Given the description of an element on the screen output the (x, y) to click on. 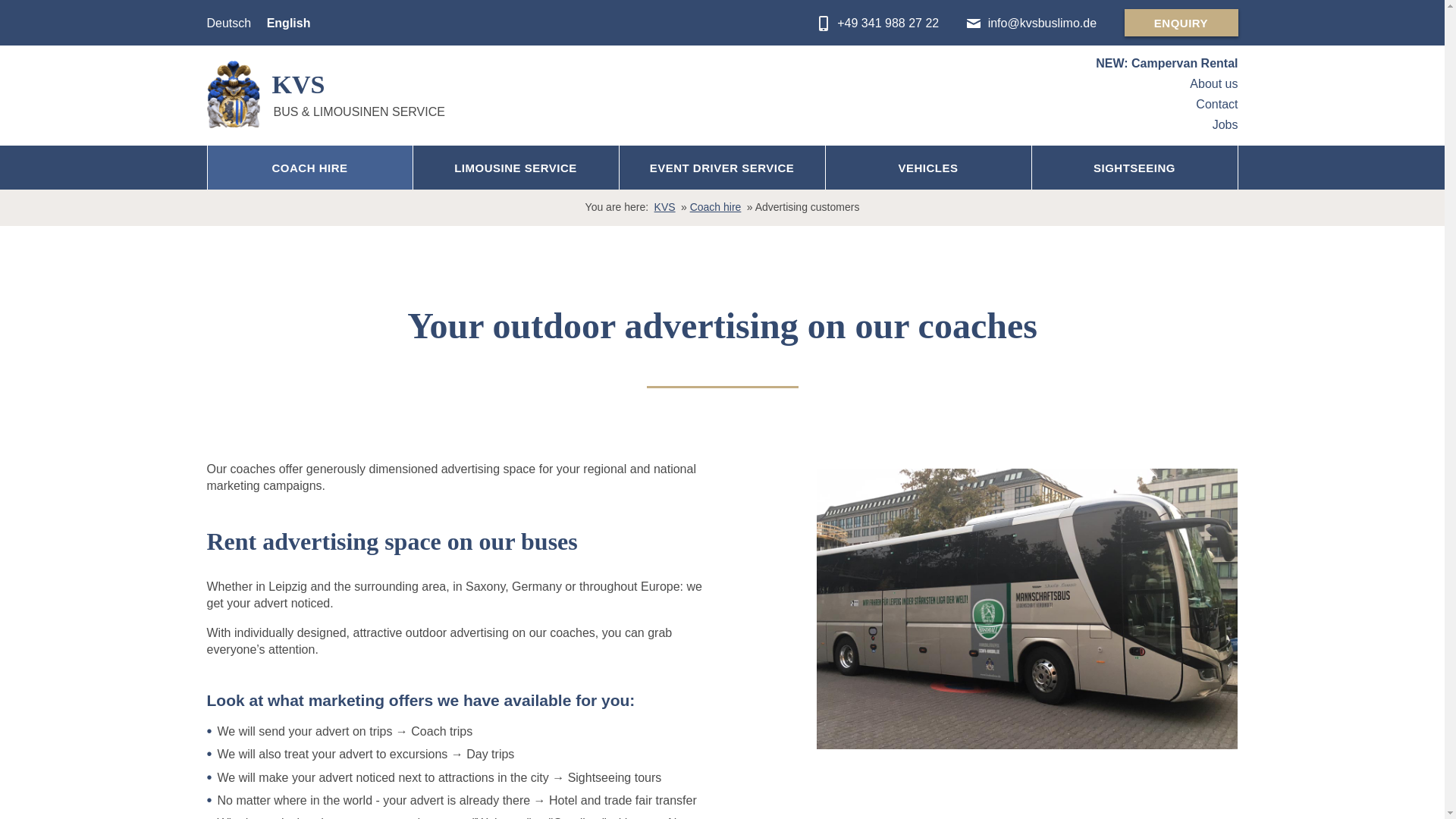
Jobs (1225, 124)
NEW: Campervan Rental (1166, 63)
COACH HIRE (310, 167)
Sightseeing (1133, 167)
VEHICLES (927, 167)
ENQUIRY (1180, 22)
Vehicles (927, 167)
KVS (664, 206)
LIMOUSINE SERVICE (514, 167)
Deutsch (228, 23)
